Given the description of an element on the screen output the (x, y) to click on. 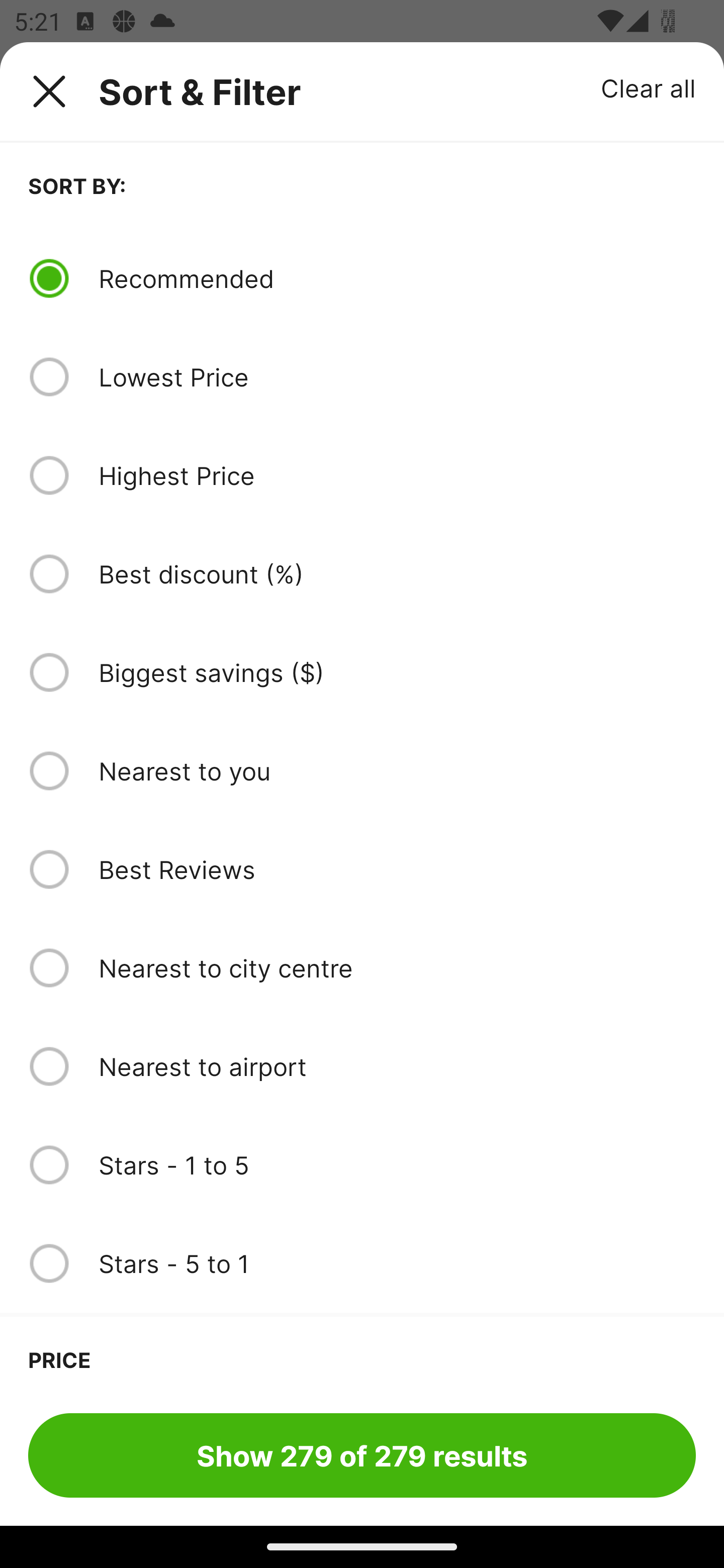
Clear all (648, 87)
Recommended  (396, 278)
Lowest Price (396, 377)
Highest Price (396, 474)
Best discount (%) (396, 573)
Biggest savings ($) (396, 672)
Nearest to you (396, 770)
Best Reviews (396, 869)
Nearest to city centre (396, 968)
Nearest to airport (396, 1065)
Stars - 1 to 5 (396, 1164)
Stars - 5 to 1 (396, 1263)
Show 279 of 279 results (361, 1454)
